Given the description of an element on the screen output the (x, y) to click on. 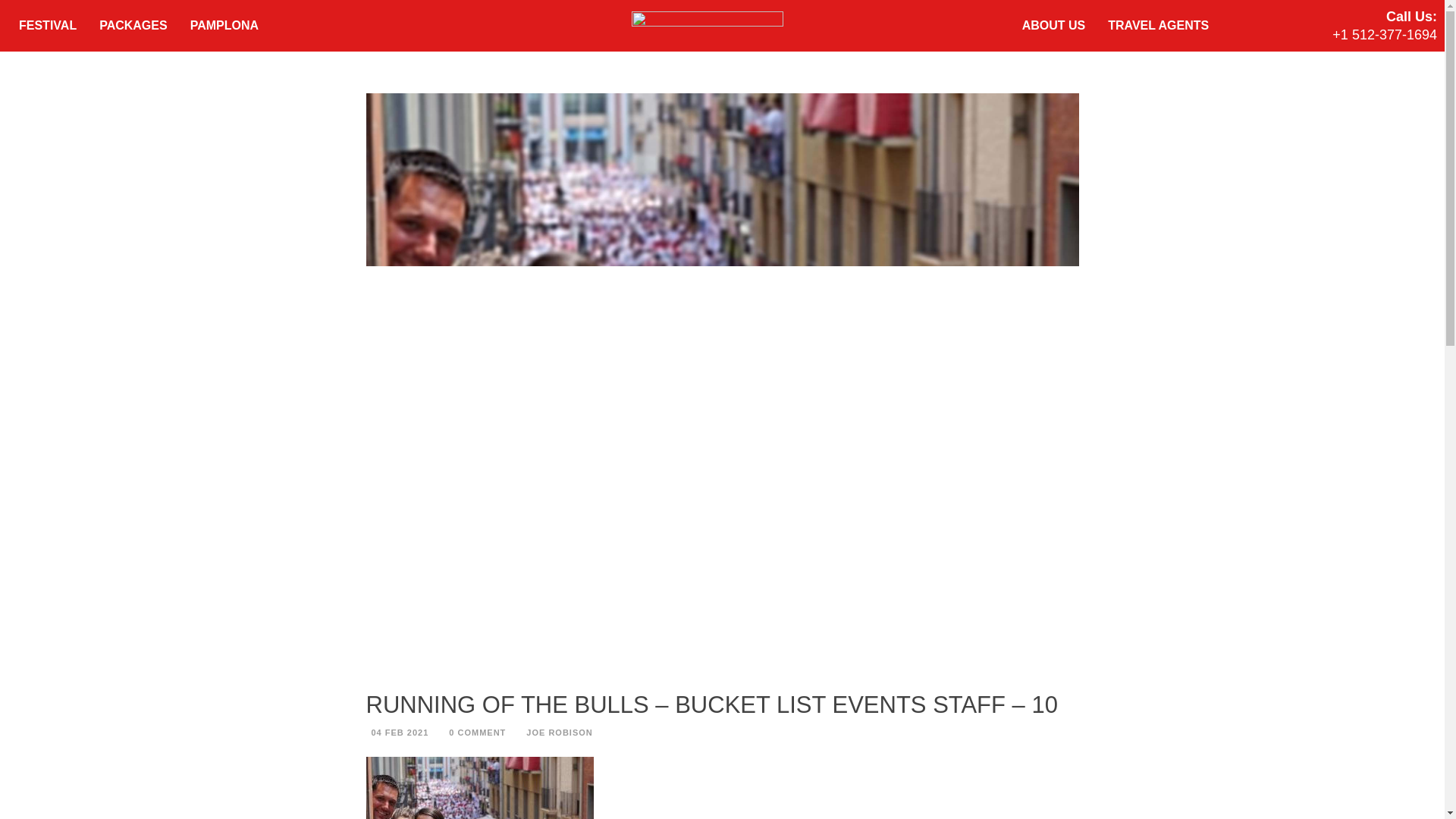
Posts by Joe Robison (558, 732)
PACKAGES (133, 25)
PAMPLONA (224, 25)
FESTIVAL (47, 25)
